Given the description of an element on the screen output the (x, y) to click on. 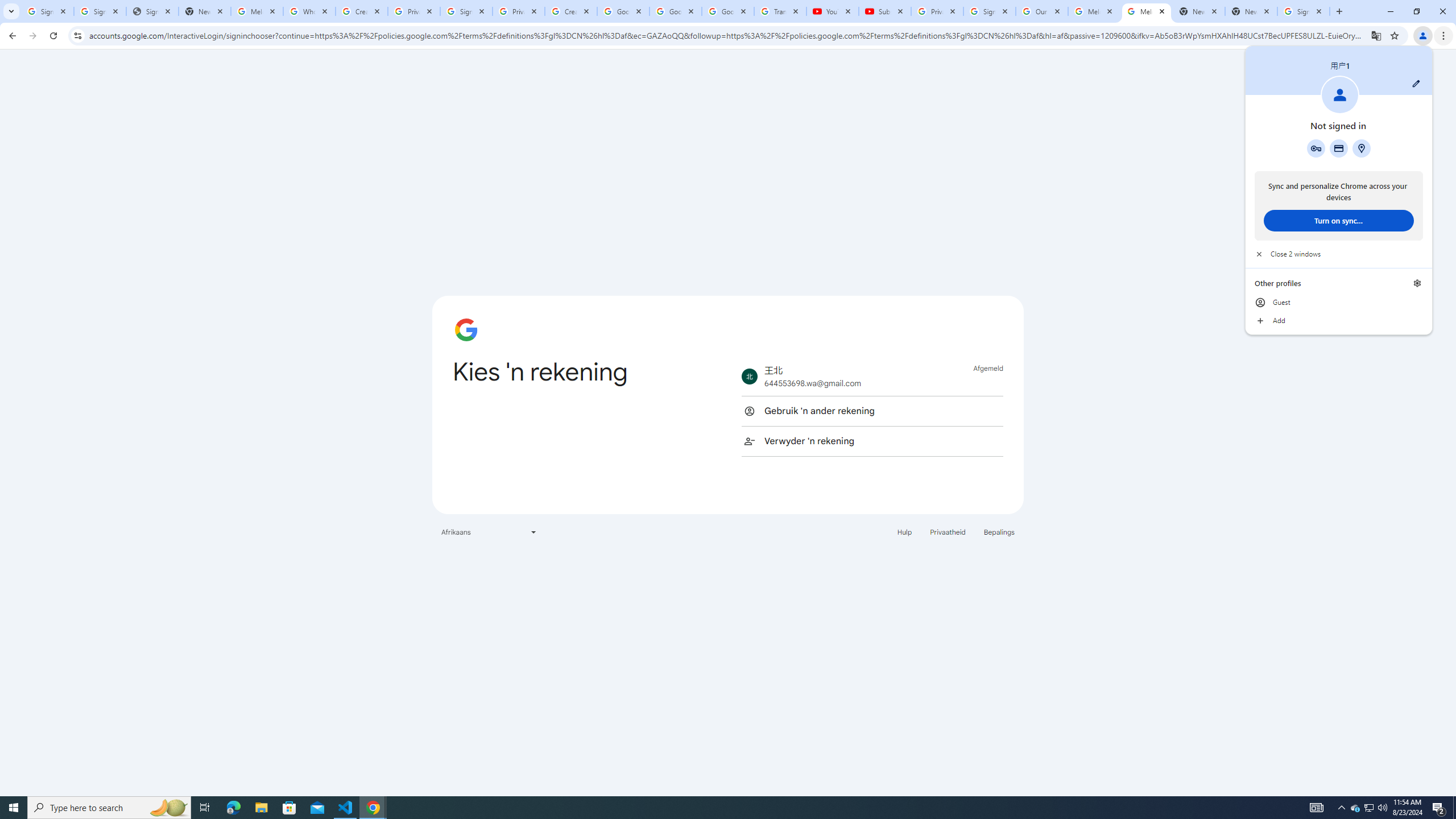
Recover Unsaved Documents (530, 753)
Export (59, 536)
